Given the description of an element on the screen output the (x, y) to click on. 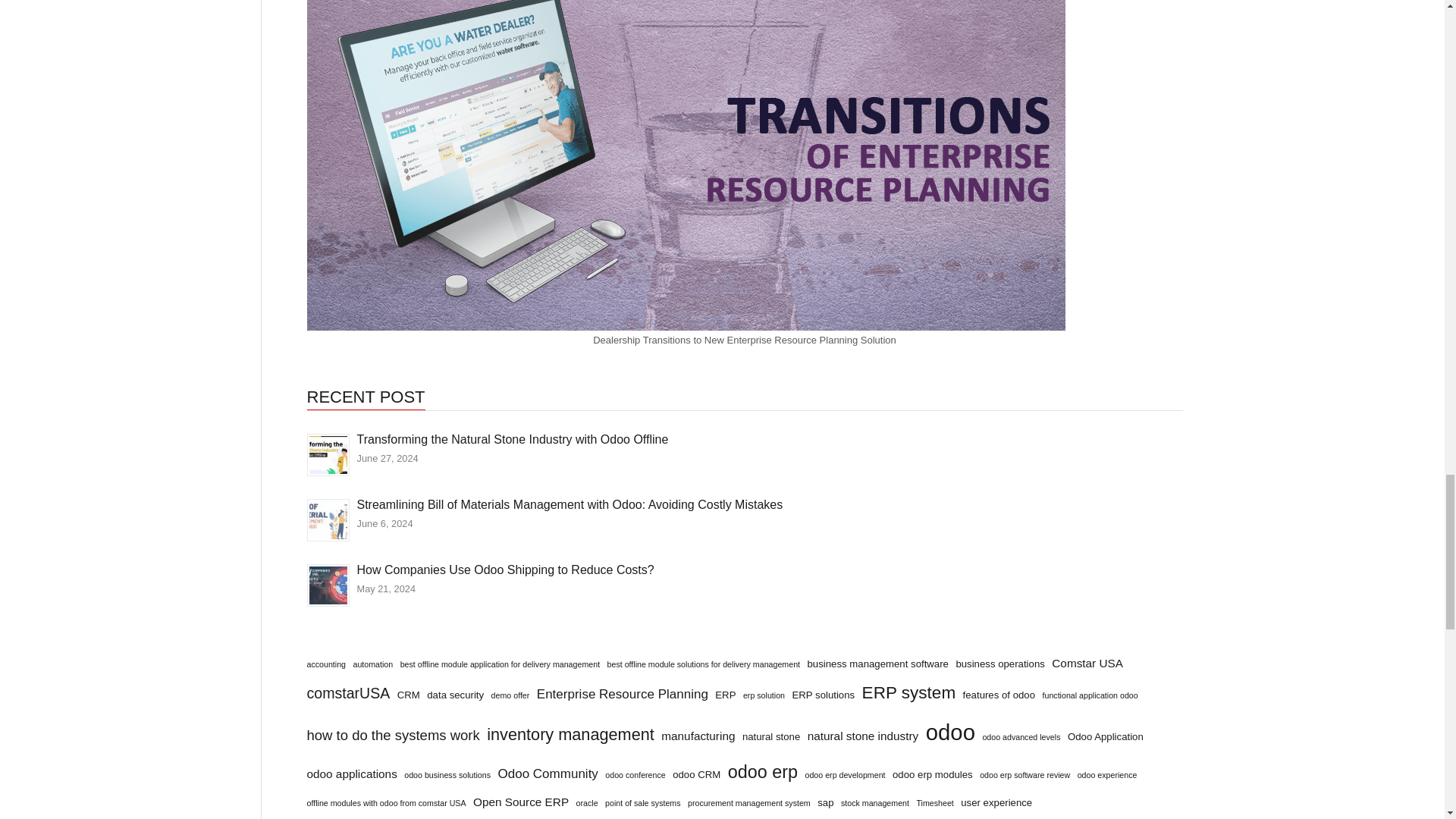
odoo offline ERP (327, 454)
odoo shipping software (327, 585)
Transforming the Natural Stone Industry with Odoo Offline (327, 453)
odoo bom management (327, 519)
How Companies Use Odoo Shipping to Reduce Costs? (327, 584)
